Given the description of an element on the screen output the (x, y) to click on. 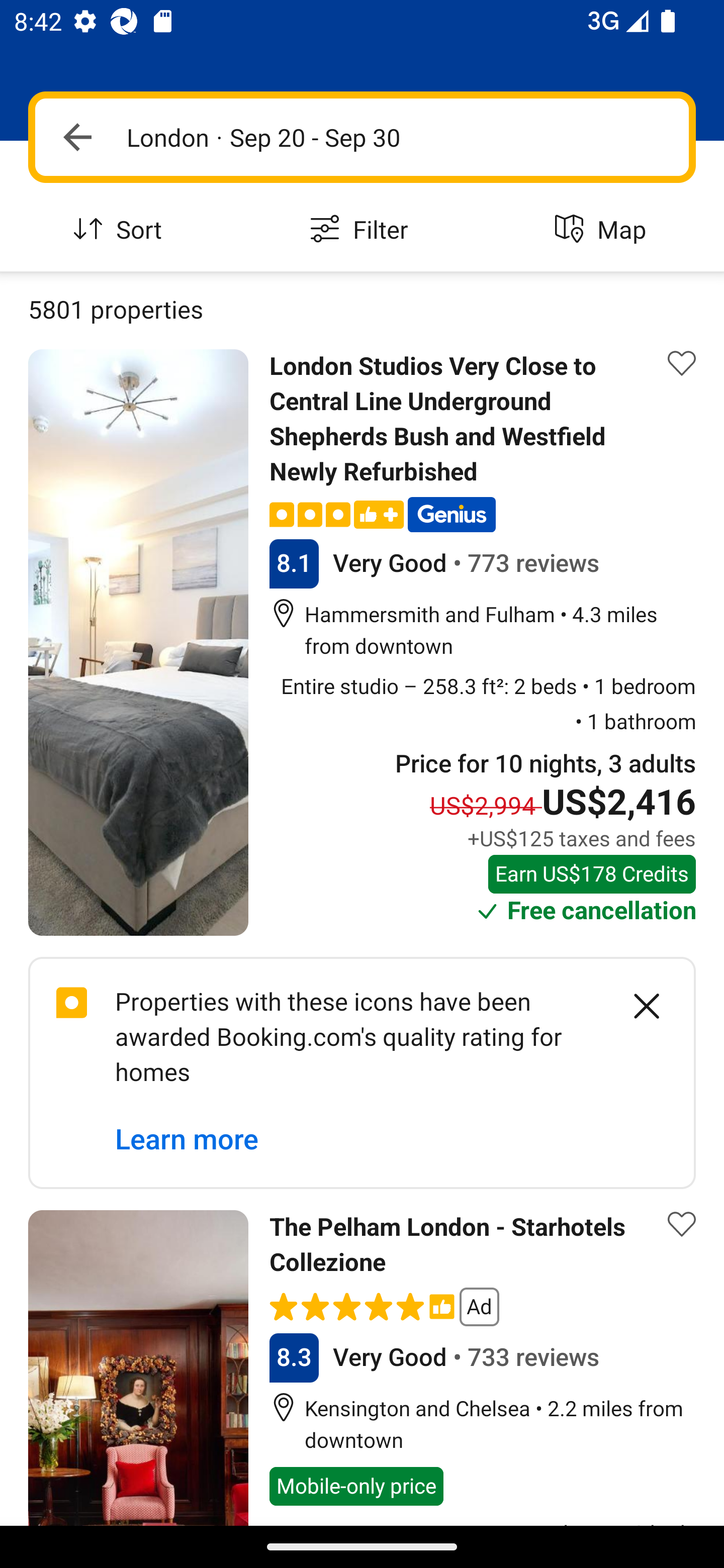
Navigate up London · Sep 20 - Sep 30 (362, 136)
Navigate up (77, 136)
Sort (120, 230)
Filter (361, 230)
Map (603, 230)
Save property to list (681, 363)
Clear (635, 1006)
Learn more (187, 1139)
Save property to list (681, 1224)
